Given the description of an element on the screen output the (x, y) to click on. 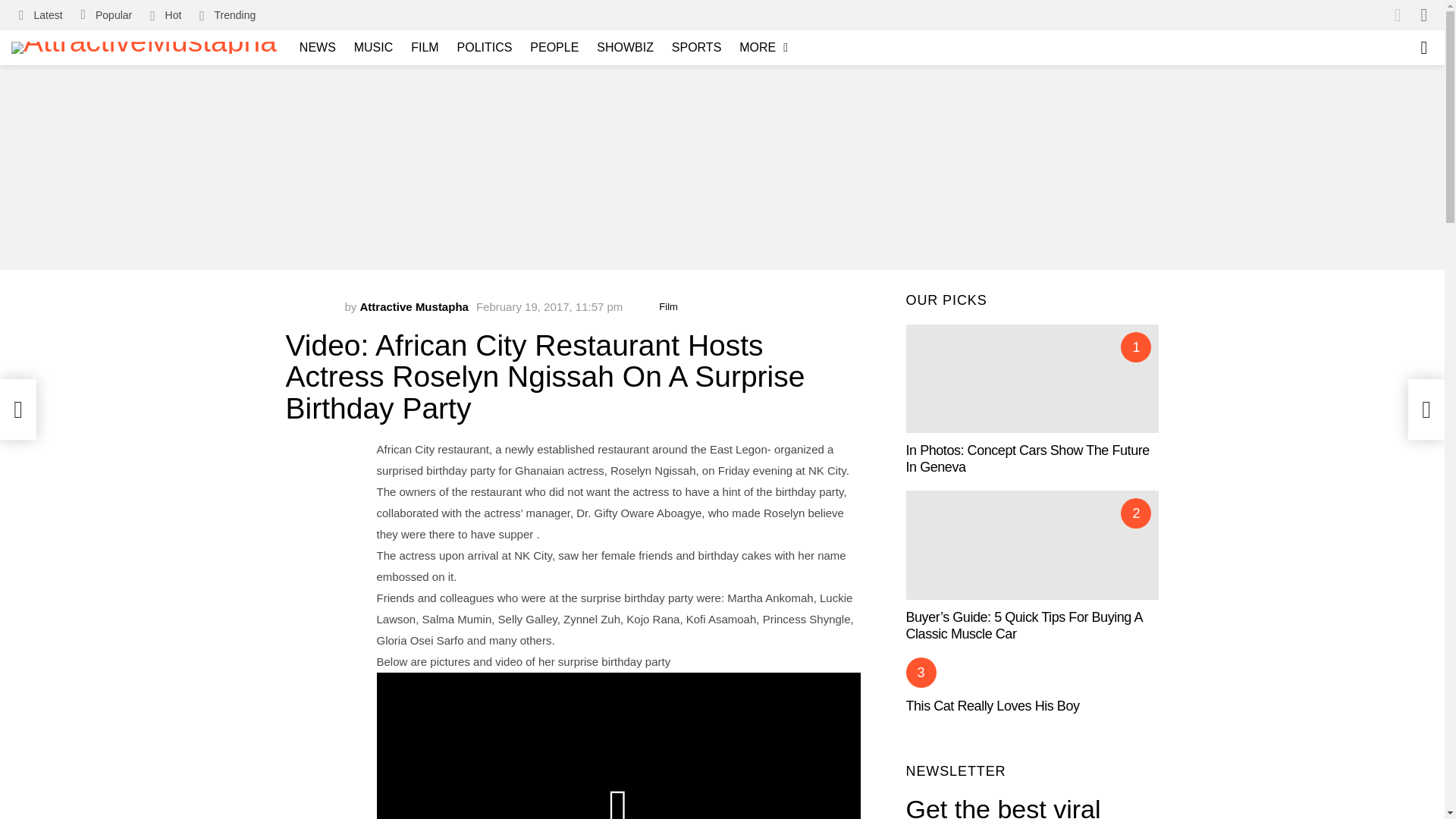
Trending (227, 14)
POLITICS (484, 47)
SPORTS (696, 47)
In Photos: Concept Cars Show The Future In Geneva (1031, 399)
SHOWBIZ (625, 47)
Latest (40, 14)
FILM (424, 47)
Hot (165, 14)
PEOPLE (554, 47)
Attractive Mustapha (413, 306)
